Given the description of an element on the screen output the (x, y) to click on. 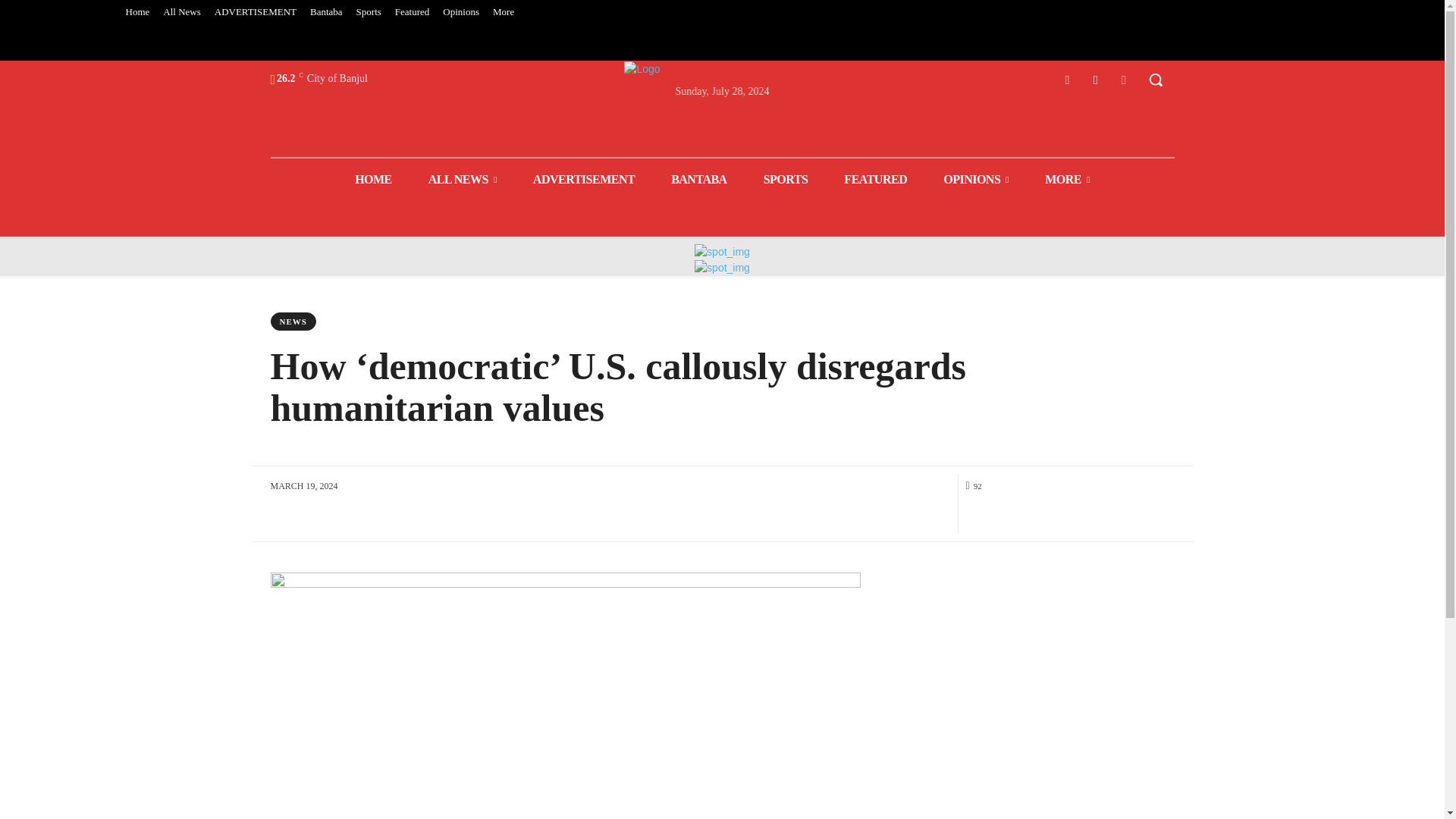
Bantaba (325, 12)
Home (136, 12)
Facebook (1067, 79)
All News (180, 12)
ALL NEWS (462, 178)
HOME (373, 178)
Youtube (1123, 79)
Featured (411, 12)
ADVERTISEMENT (255, 12)
Opinions (460, 12)
Twitter (1094, 79)
Sports (368, 12)
More (503, 12)
